Given the description of an element on the screen output the (x, y) to click on. 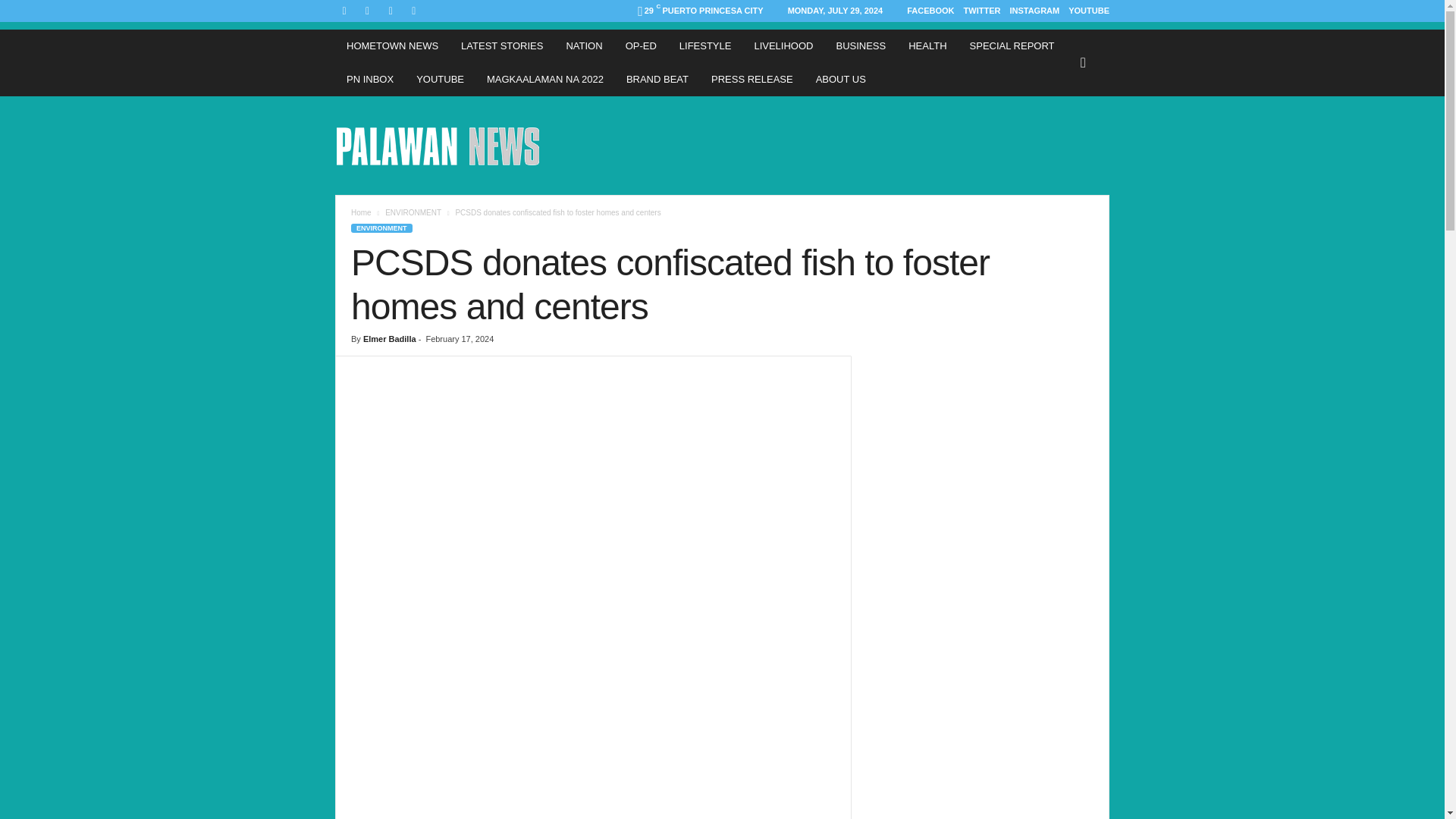
Palawan News (438, 145)
View all posts in ENVIRONMENT (413, 212)
